Given the description of an element on the screen output the (x, y) to click on. 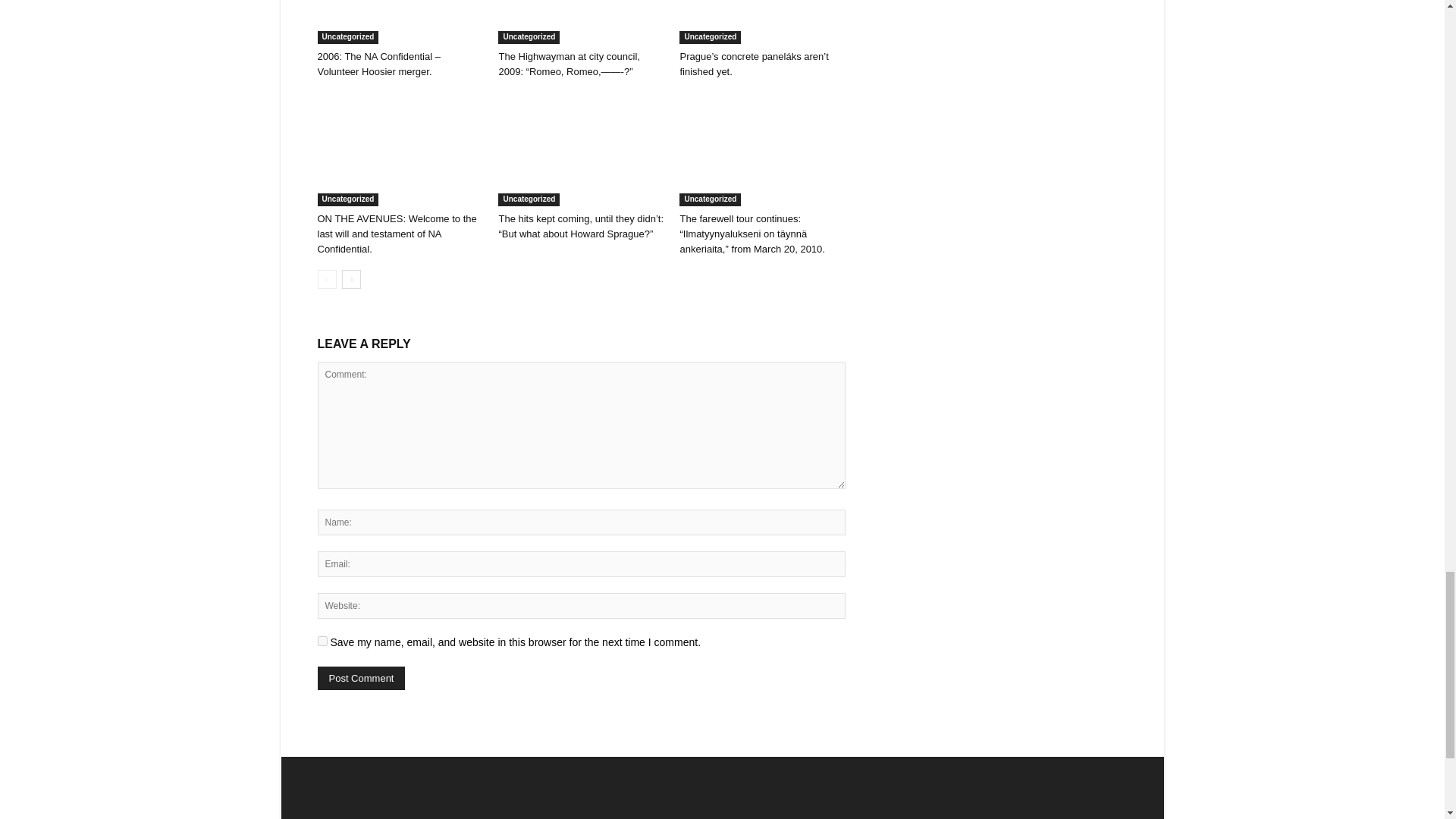
yes (321, 641)
Post Comment (360, 678)
